Given the description of an element on the screen output the (x, y) to click on. 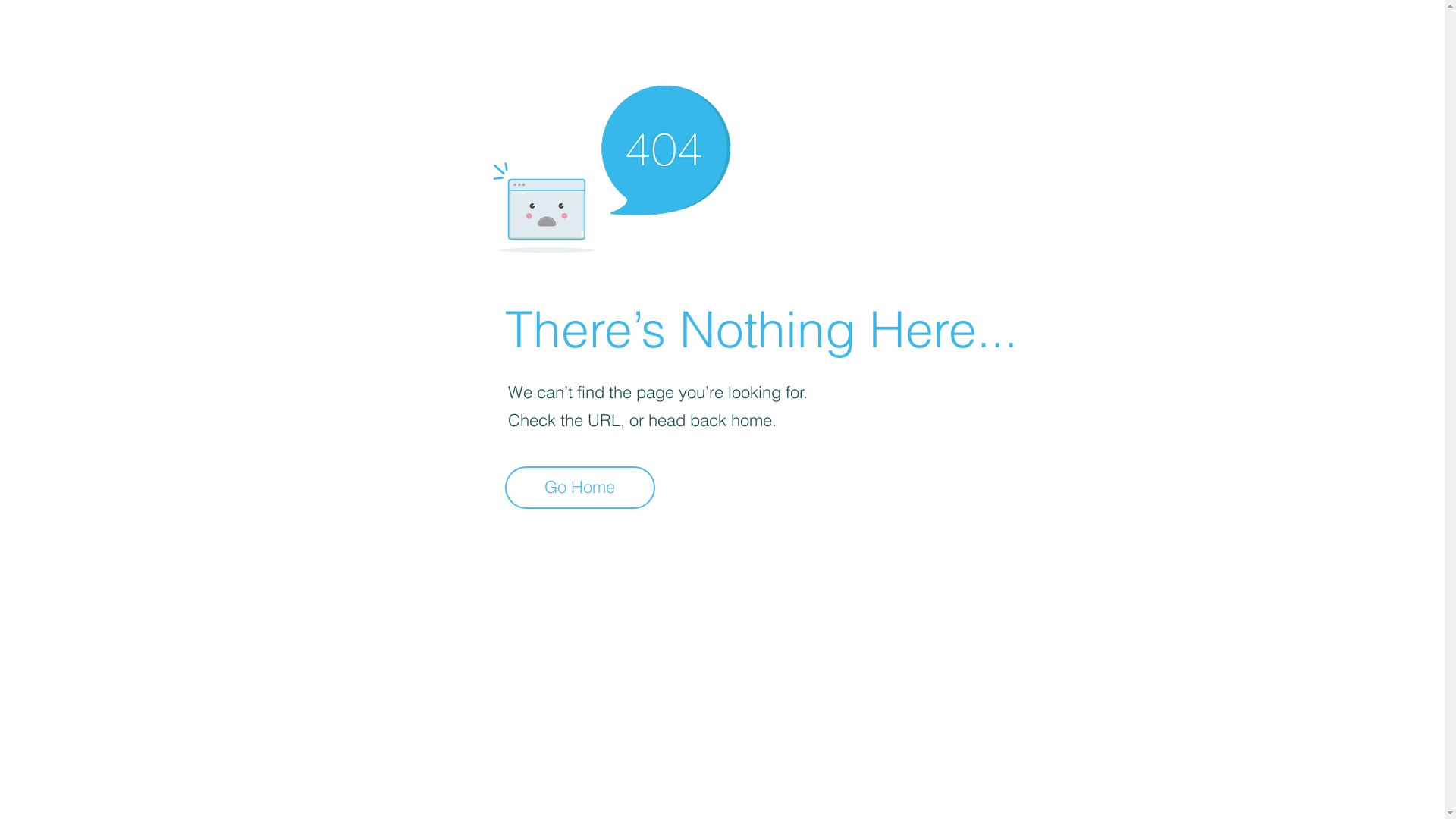
404-icon_2.png Element type: hover (610, 164)
Go Home Element type: text (580, 487)
